Given the description of an element on the screen output the (x, y) to click on. 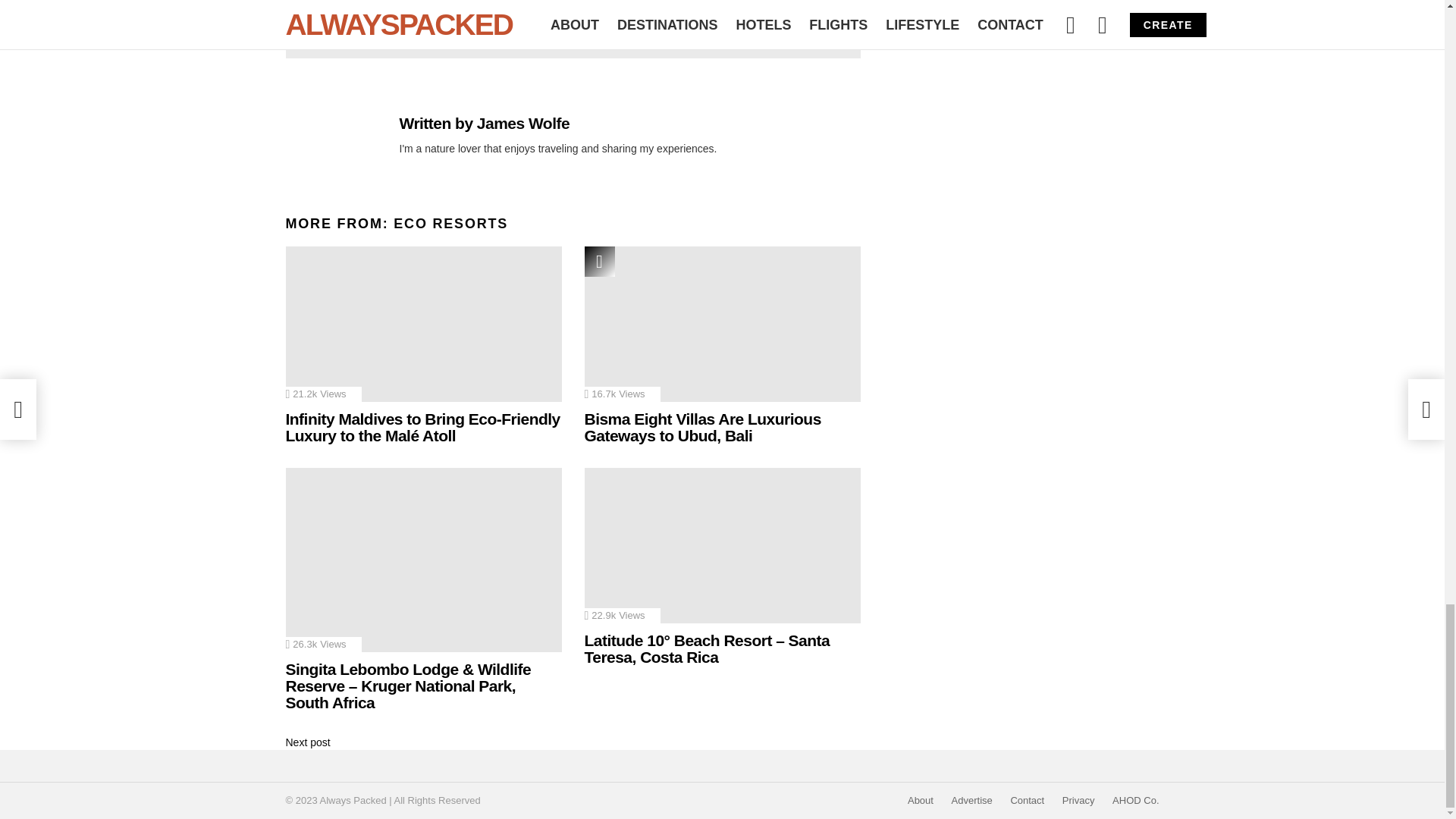
Trending (598, 261)
Sign up (738, 7)
Bisma Eight Villas Are Luxurious Gateways to Ubud, Bali (721, 324)
